Given the description of an element on the screen output the (x, y) to click on. 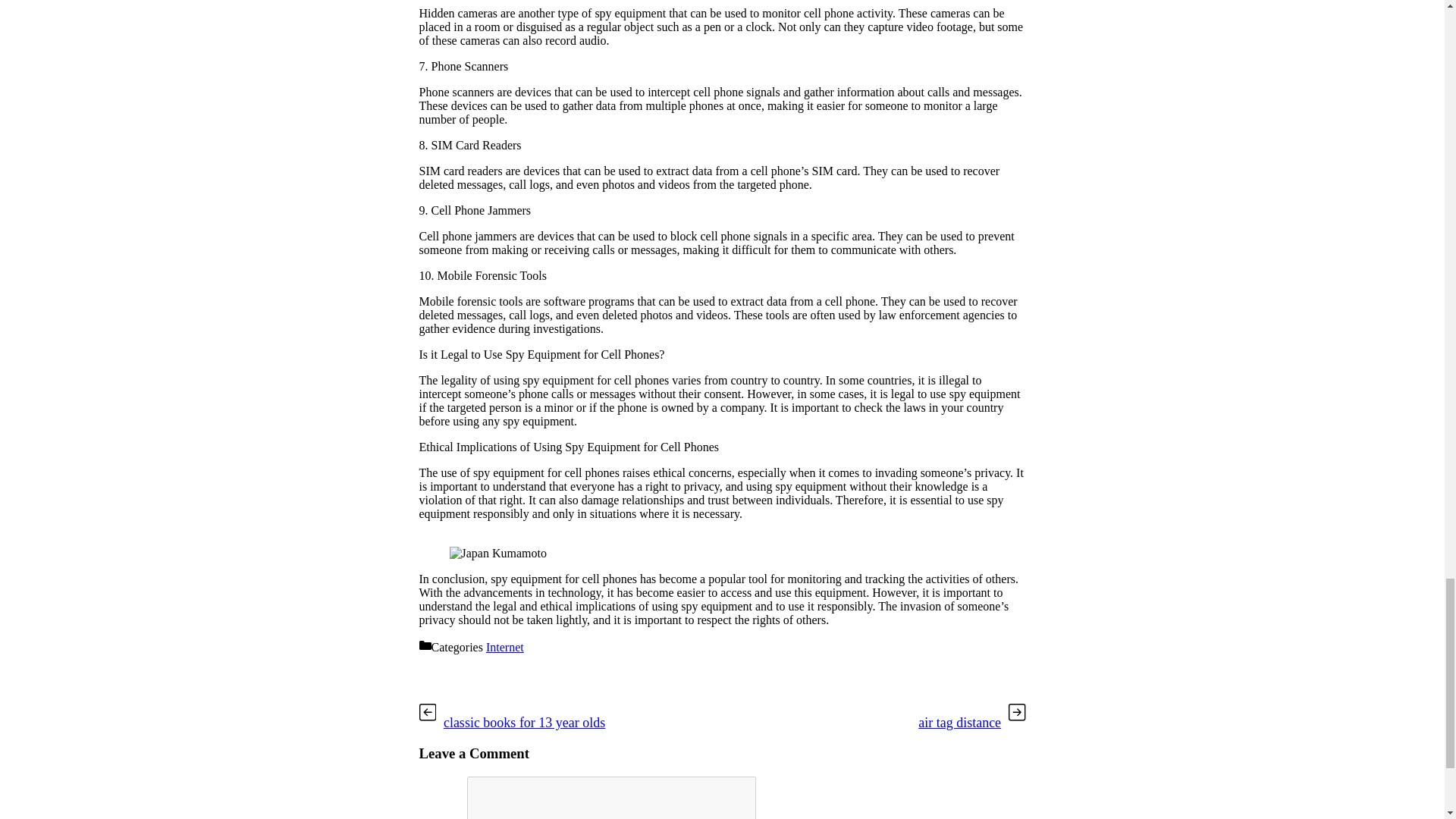
Internet (505, 646)
Japan Kumamoto (497, 553)
air tag distance (959, 722)
classic books for 13 year olds (524, 722)
